Given the description of an element on the screen output the (x, y) to click on. 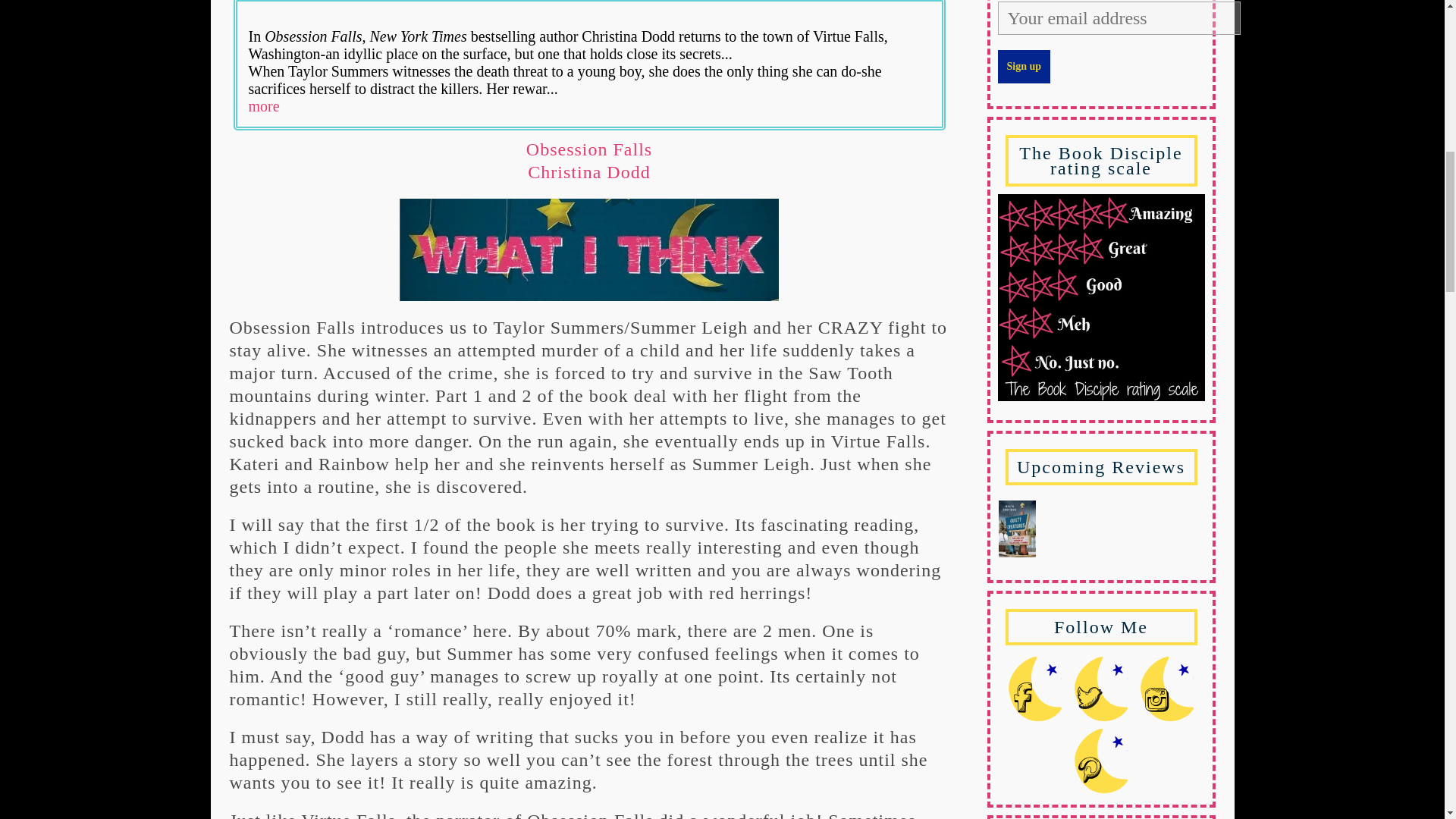
Sign up (1024, 66)
